Given the description of an element on the screen output the (x, y) to click on. 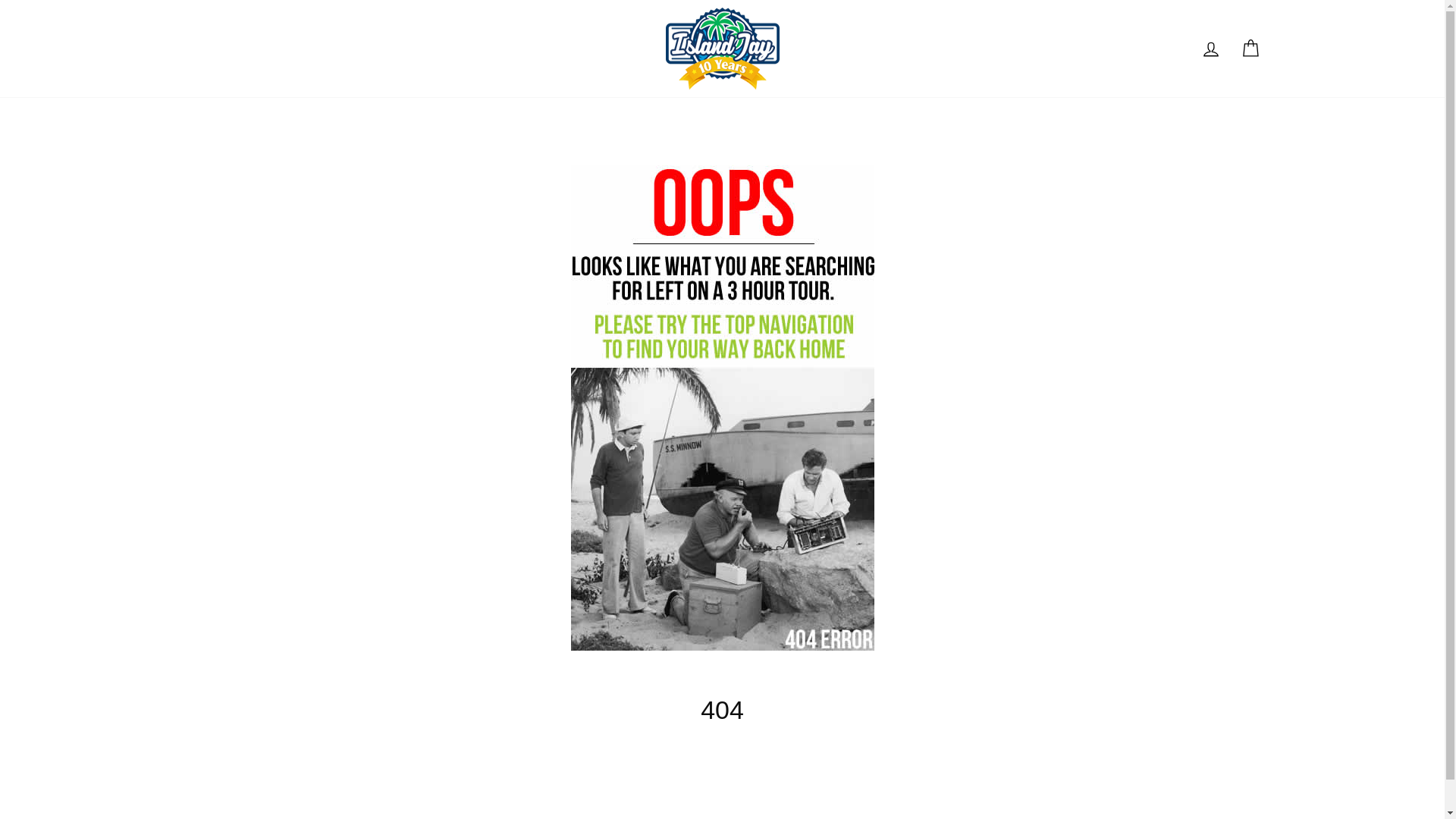
Cart (1249, 47)
account (1210, 47)
